Given the description of an element on the screen output the (x, y) to click on. 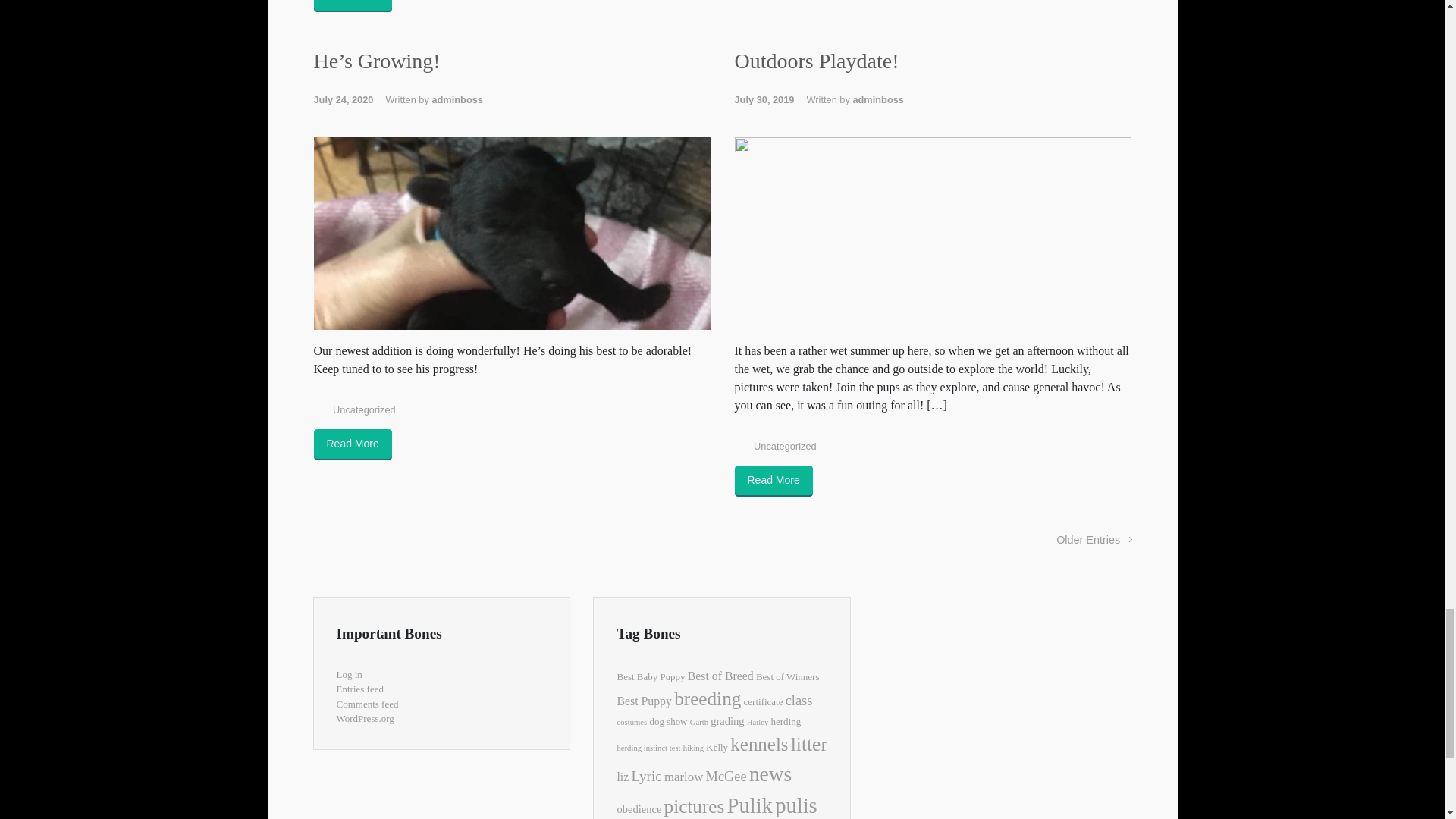
View all posts by adminboss (877, 99)
View all posts by adminboss (456, 99)
